Given the description of an element on the screen output the (x, y) to click on. 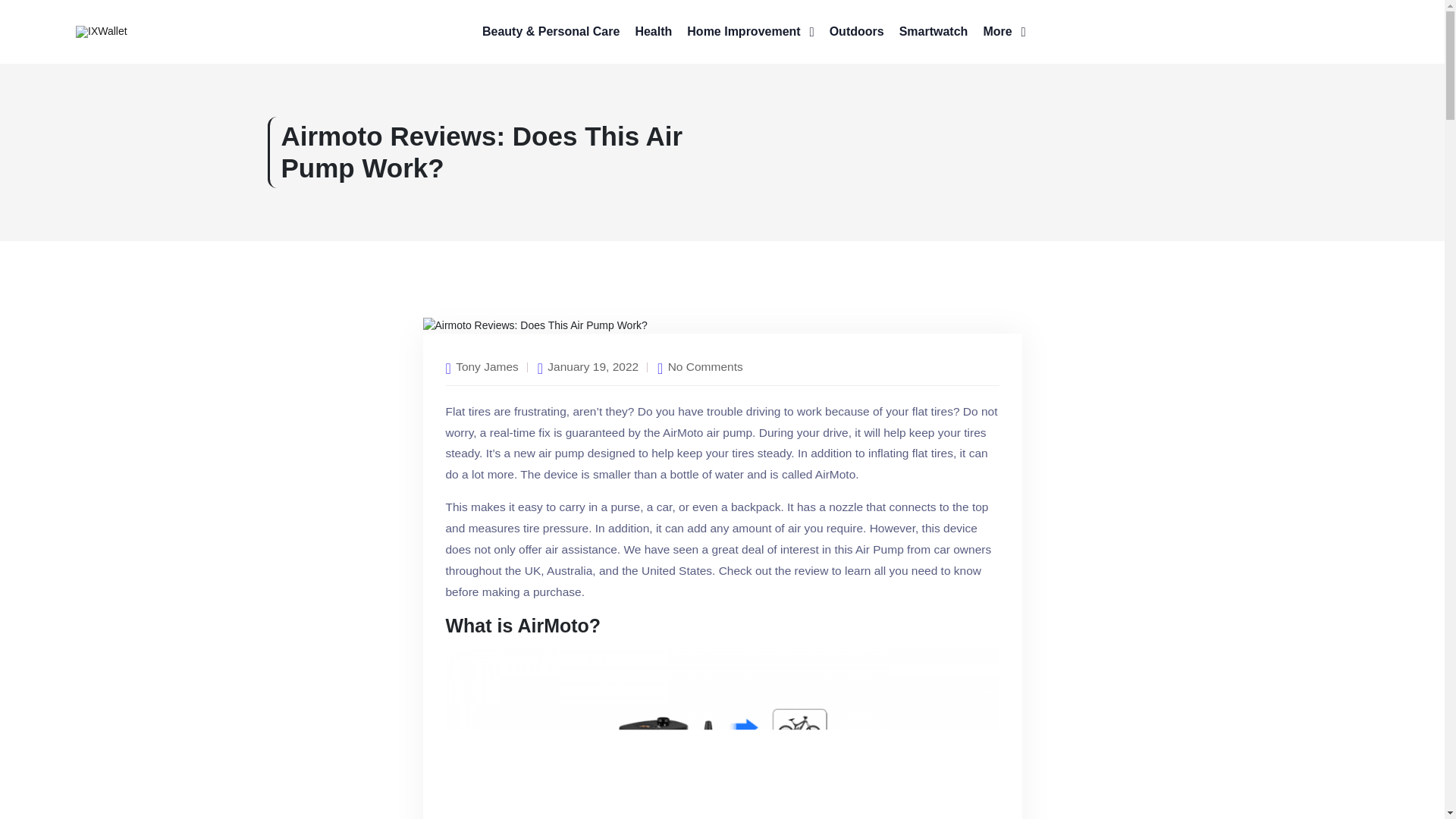
Smartwatch (933, 31)
Tony James (486, 366)
Smartwatch (933, 31)
Home Improvement (750, 31)
Home Improvement (750, 31)
